Given the description of an element on the screen output the (x, y) to click on. 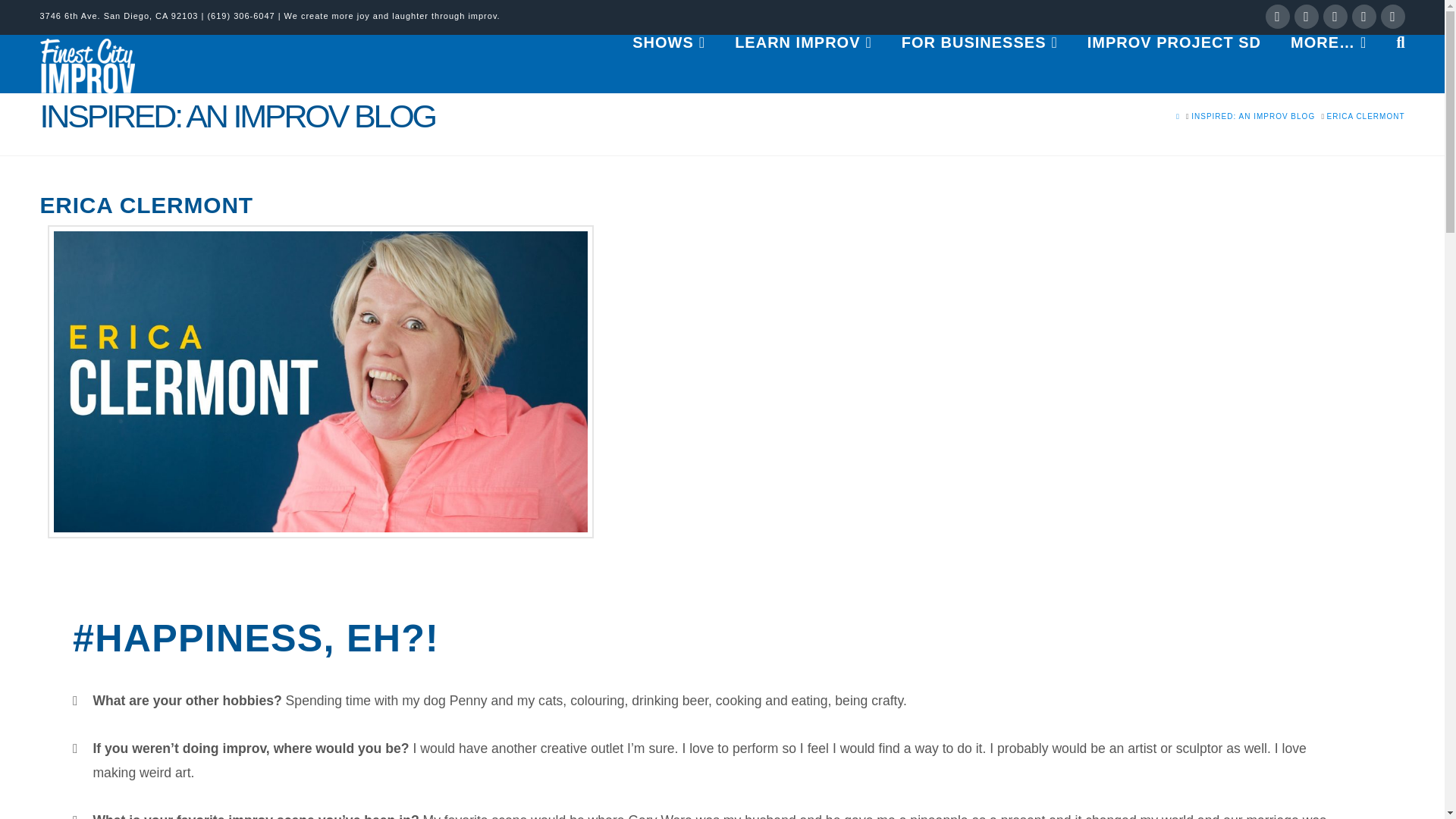
SHOWS (668, 55)
Corporate Training and Events (978, 55)
IMPROV PROJECT SD (1173, 55)
Facebook (1276, 16)
Twitter (1305, 16)
FOR BUSINESSES (978, 55)
YouTube (1363, 16)
Free and low cost improv! (1173, 55)
LEARN IMPROV (802, 55)
You Are Here (1365, 116)
